Given the description of an element on the screen output the (x, y) to click on. 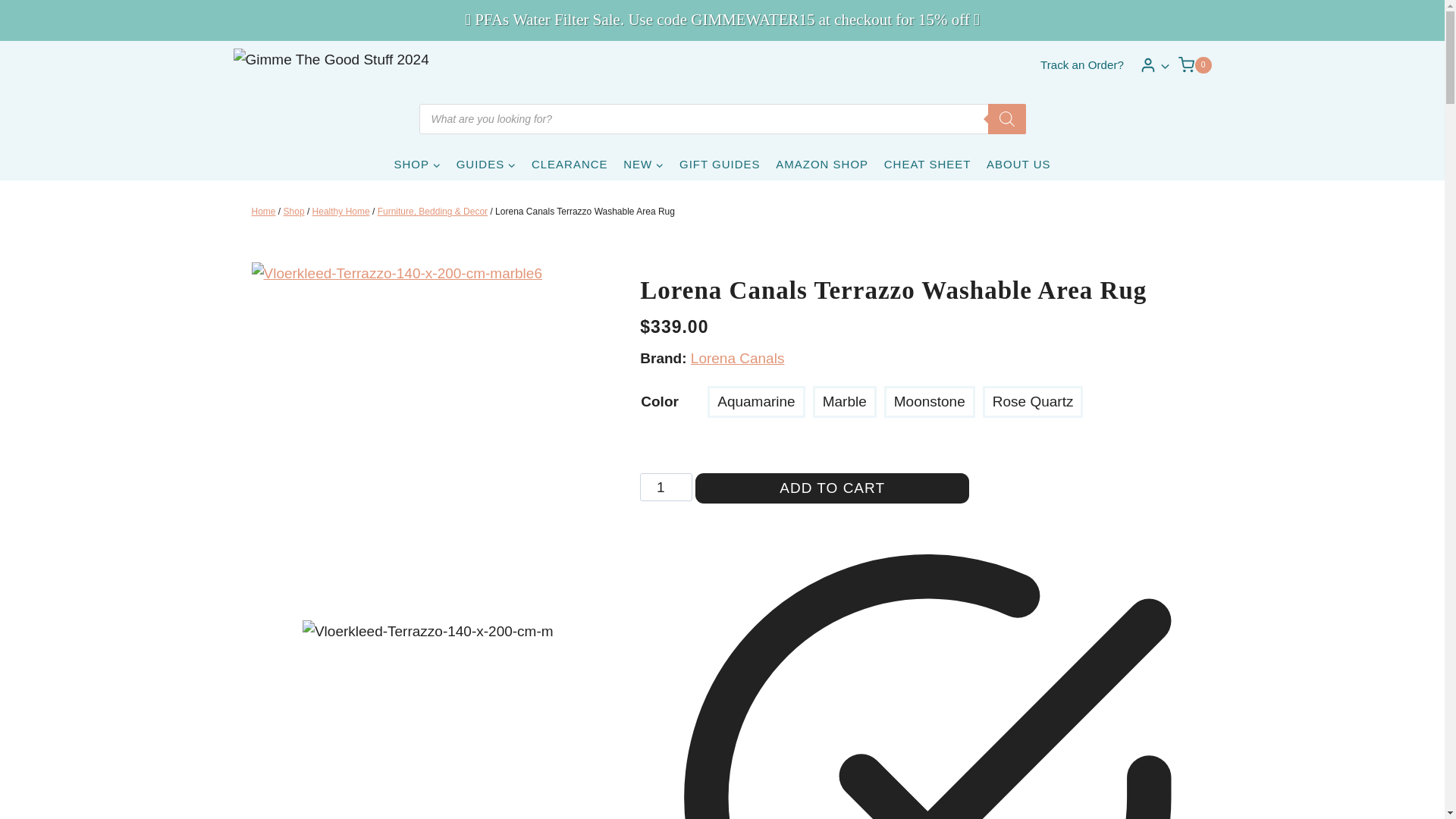
0 (1194, 64)
1 (666, 487)
Track an Order? (1081, 64)
Vloerkleed-Terrazzo-140-x-200-cm-marble6 (427, 438)
SHOP (416, 164)
